Given the description of an element on the screen output the (x, y) to click on. 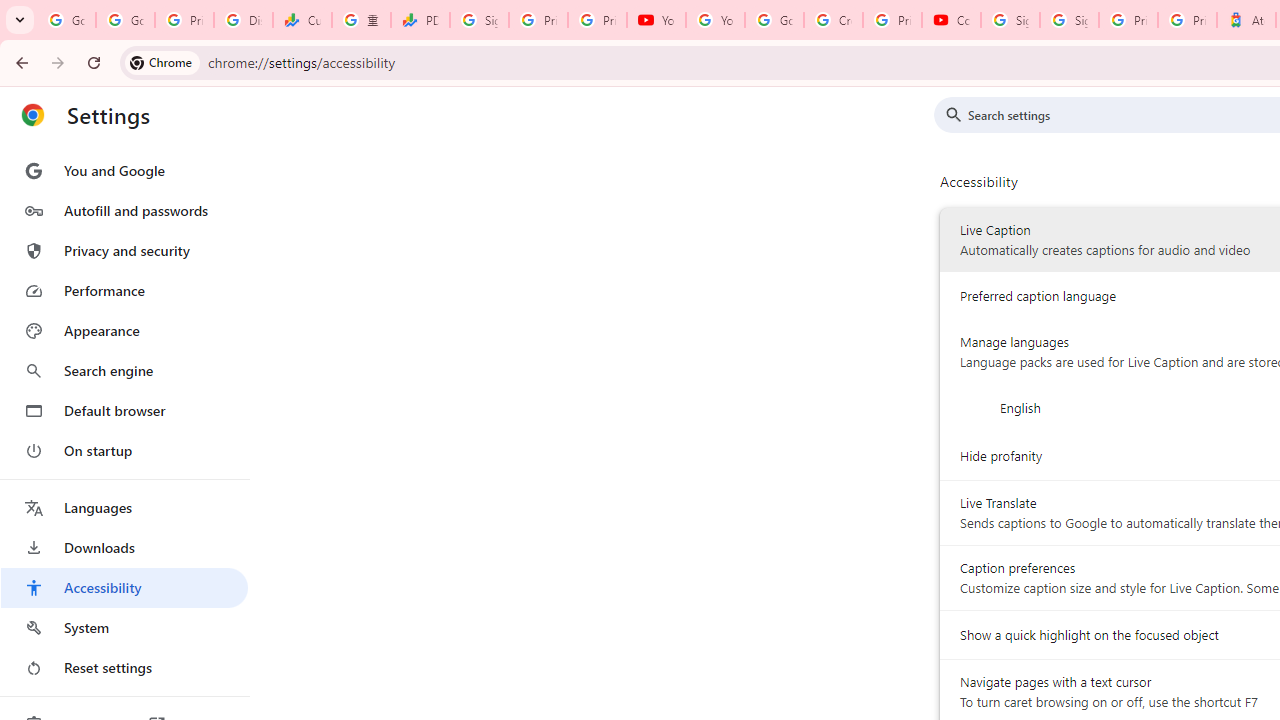
PDD Holdings Inc - ADR (PDD) Price & News - Google Finance (420, 20)
Google Account Help (774, 20)
Content Creator Programs & Opportunities - YouTube Creators (950, 20)
Sign in - Google Accounts (1069, 20)
Downloads (124, 547)
Default browser (124, 410)
You and Google (124, 170)
Sign in - Google Accounts (479, 20)
Reset settings (124, 668)
Privacy and security (124, 250)
On startup (124, 450)
Google Workspace Admin Community (66, 20)
